Given the description of an element on the screen output the (x, y) to click on. 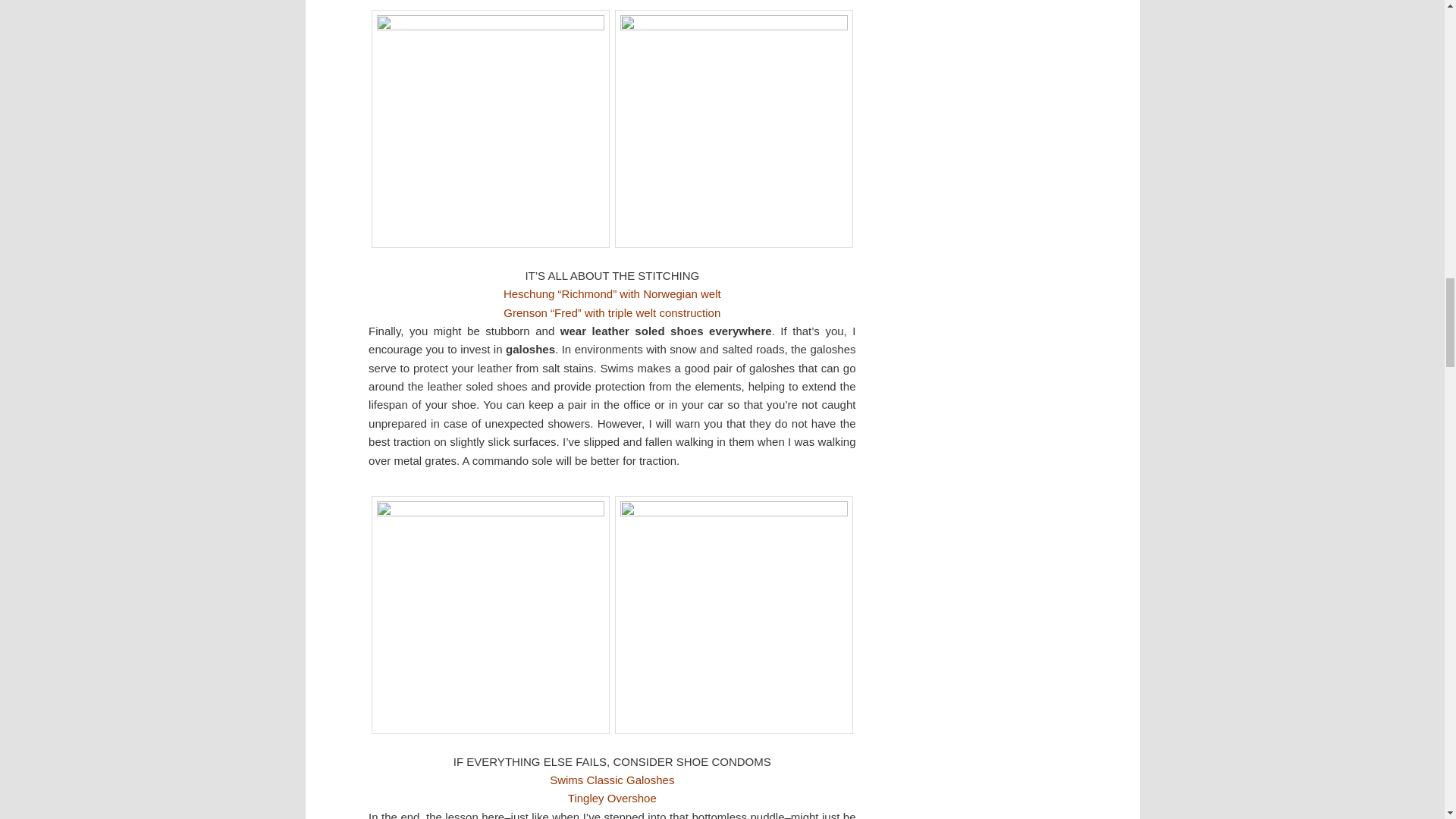
Swims Classic Galoshes (612, 779)
Tingley Overshoe (611, 797)
